Given the description of an element on the screen output the (x, y) to click on. 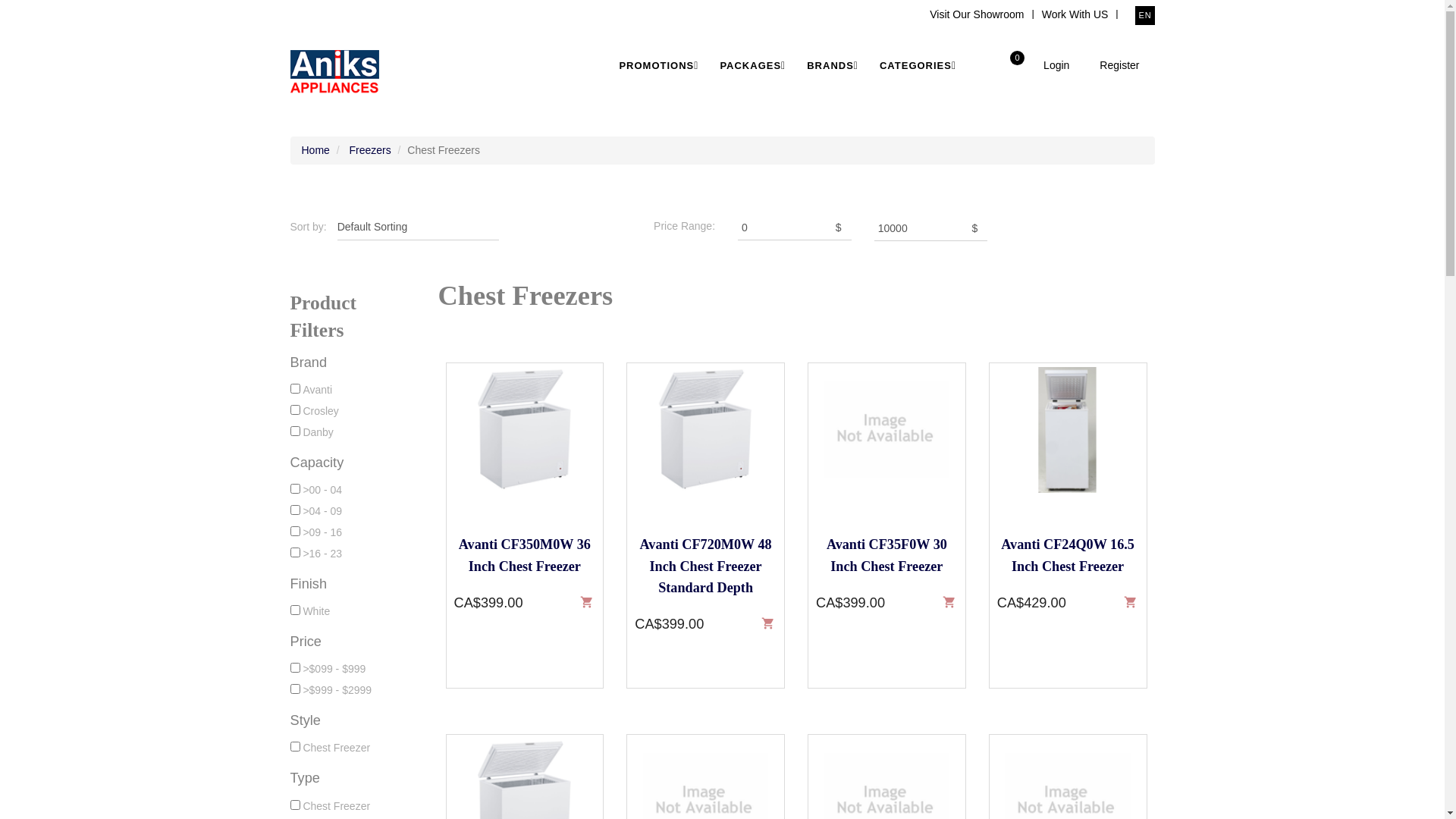
0 Element type: text (1012, 59)
Avanti CF350M0W 36 Inch Chest Freezer Element type: text (524, 554)
Home Element type: text (315, 150)
Register Element type: text (1119, 64)
BRANDS Element type: text (833, 65)
CATEGORIES Element type: text (918, 65)
PACKAGES Element type: text (753, 65)
Freezers Element type: text (369, 150)
Avanti CF35F0W 30 Inch Chest Freezer Element type: text (886, 554)
PROMOTIONS Element type: text (658, 65)
shopping_cart Element type: text (767, 621)
Logo Element type: hover (334, 72)
shopping_cart Element type: text (1129, 600)
Visit Our Showroom Element type: text (976, 14)
Avanti CF720M0W 48 Inch Chest Freezer Standard Depth Element type: text (705, 565)
Avanti CF24Q0W 16.5 Inch Chest Freezer Element type: text (1067, 554)
EN Element type: text (1144, 15)
Work With US Element type: text (1074, 14)
shopping_cart Element type: text (949, 600)
Login Element type: text (1056, 64)
shopping_cart Element type: text (586, 600)
